Given the description of an element on the screen output the (x, y) to click on. 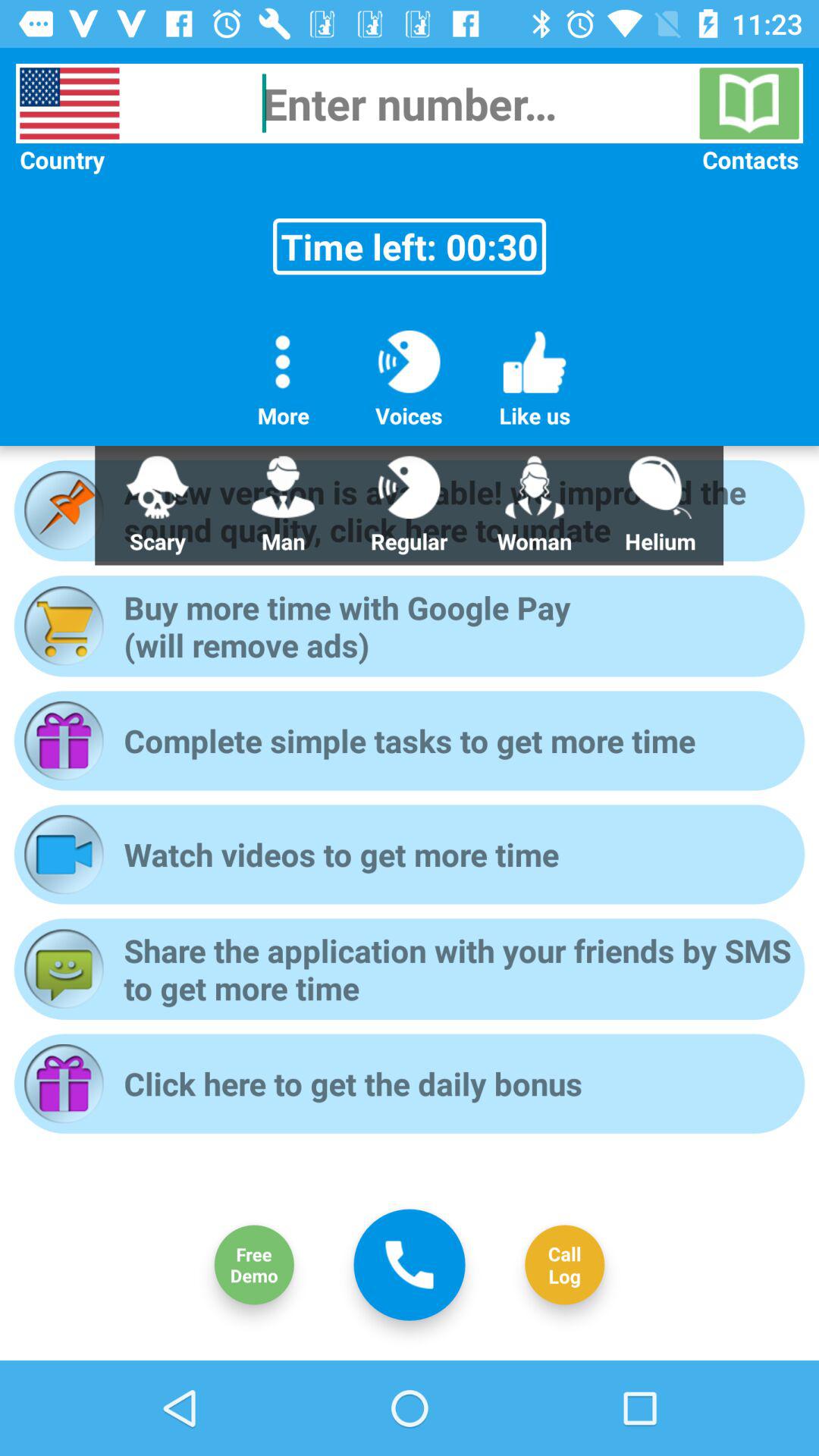
click on the button that having a text call log at the bottom of the page (564, 1264)
